Given the description of an element on the screen output the (x, y) to click on. 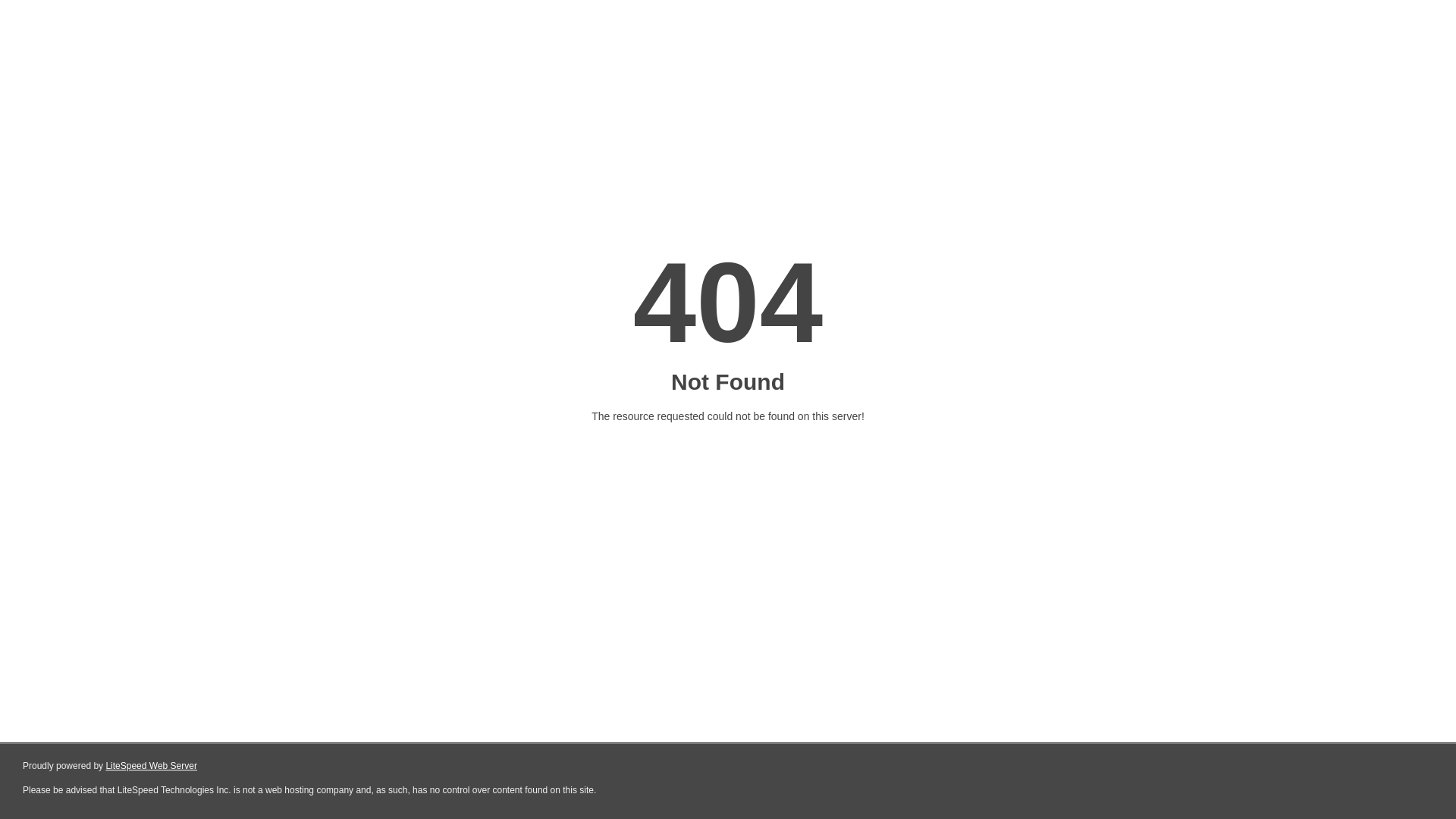
LiteSpeed Web Server Element type: text (151, 765)
